Given the description of an element on the screen output the (x, y) to click on. 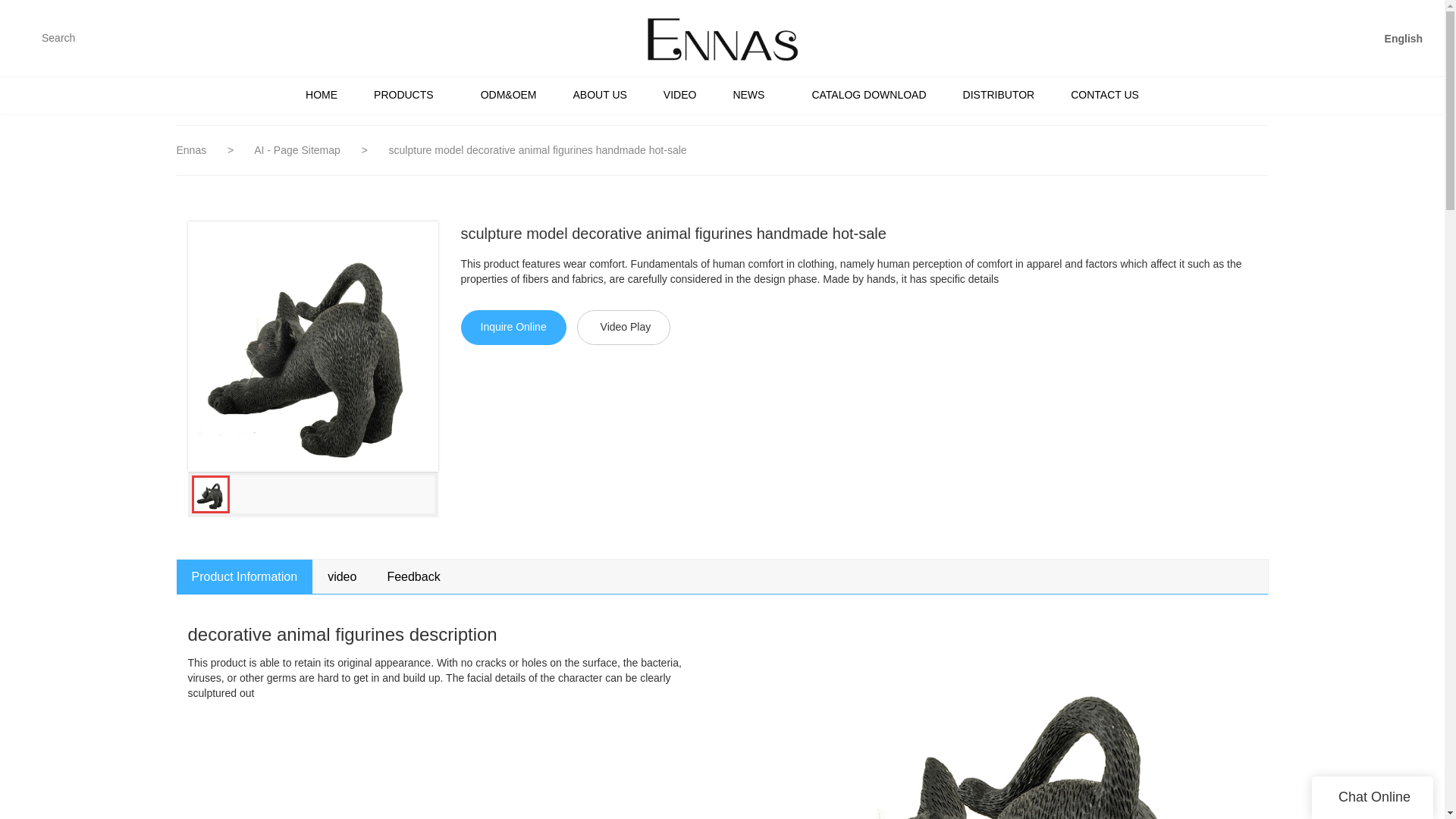
VIDEO (679, 94)
ABOUT US (599, 94)
PRODUCTS (409, 94)
DISTRIBUTOR (998, 94)
Ennas (192, 150)
Inquire Online (513, 327)
NEWS (753, 94)
Product Information (244, 576)
AI - Page Sitemap (298, 150)
CONTACT US (1104, 94)
HOME (320, 94)
video (342, 576)
CATALOG DOWNLOAD (868, 94)
Video Play (623, 327)
